Given the description of an element on the screen output the (x, y) to click on. 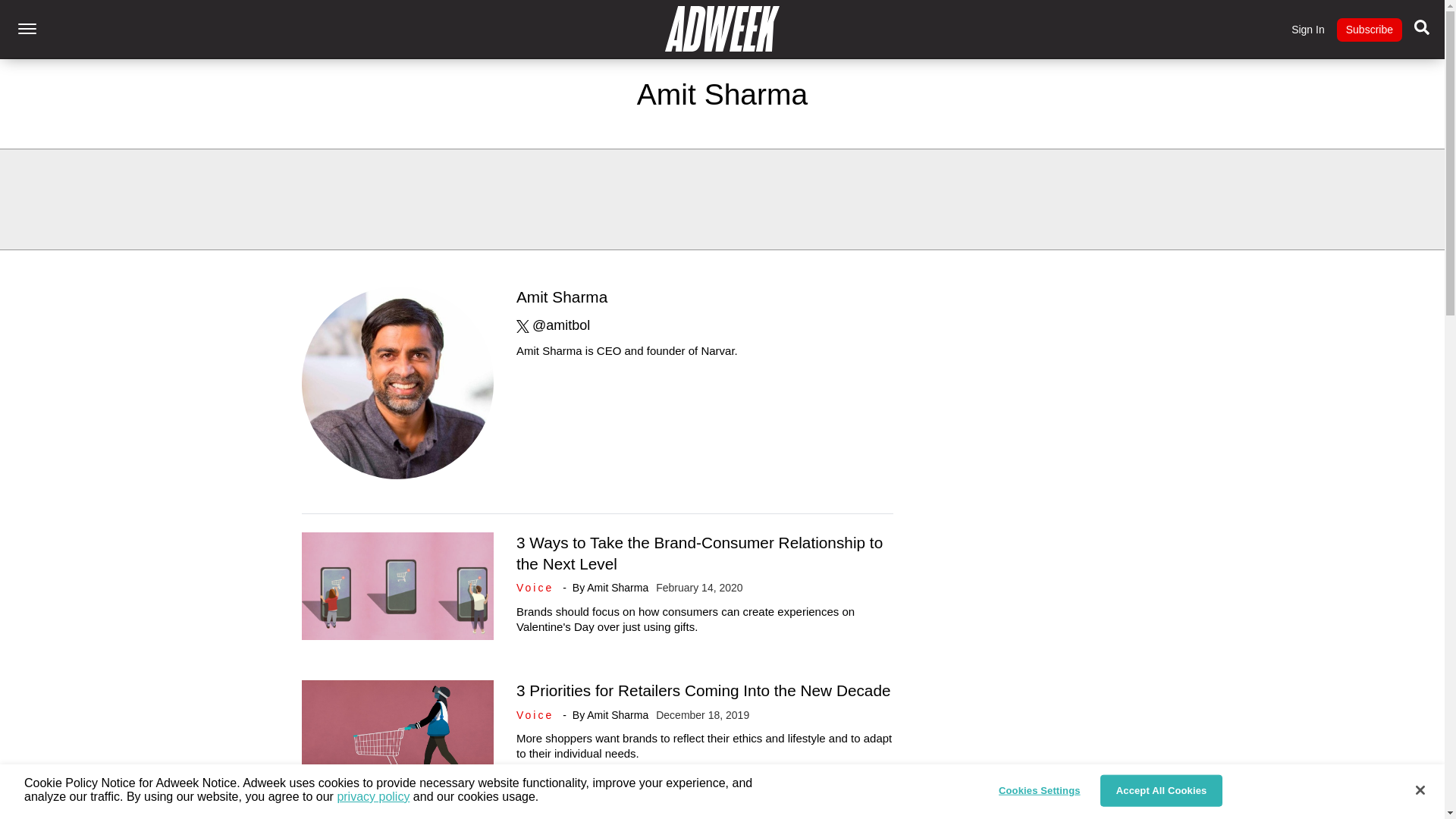
Toggle Main Menu (26, 28)
3rd party ad content (722, 199)
Subscribe (1369, 29)
3 Priorities for Retailers Coming Into the New Decade (703, 690)
Voice (537, 715)
Voice (537, 587)
Amit Sharma (616, 715)
Sign In (1307, 29)
Amit Sharma (616, 587)
